Given the description of an element on the screen output the (x, y) to click on. 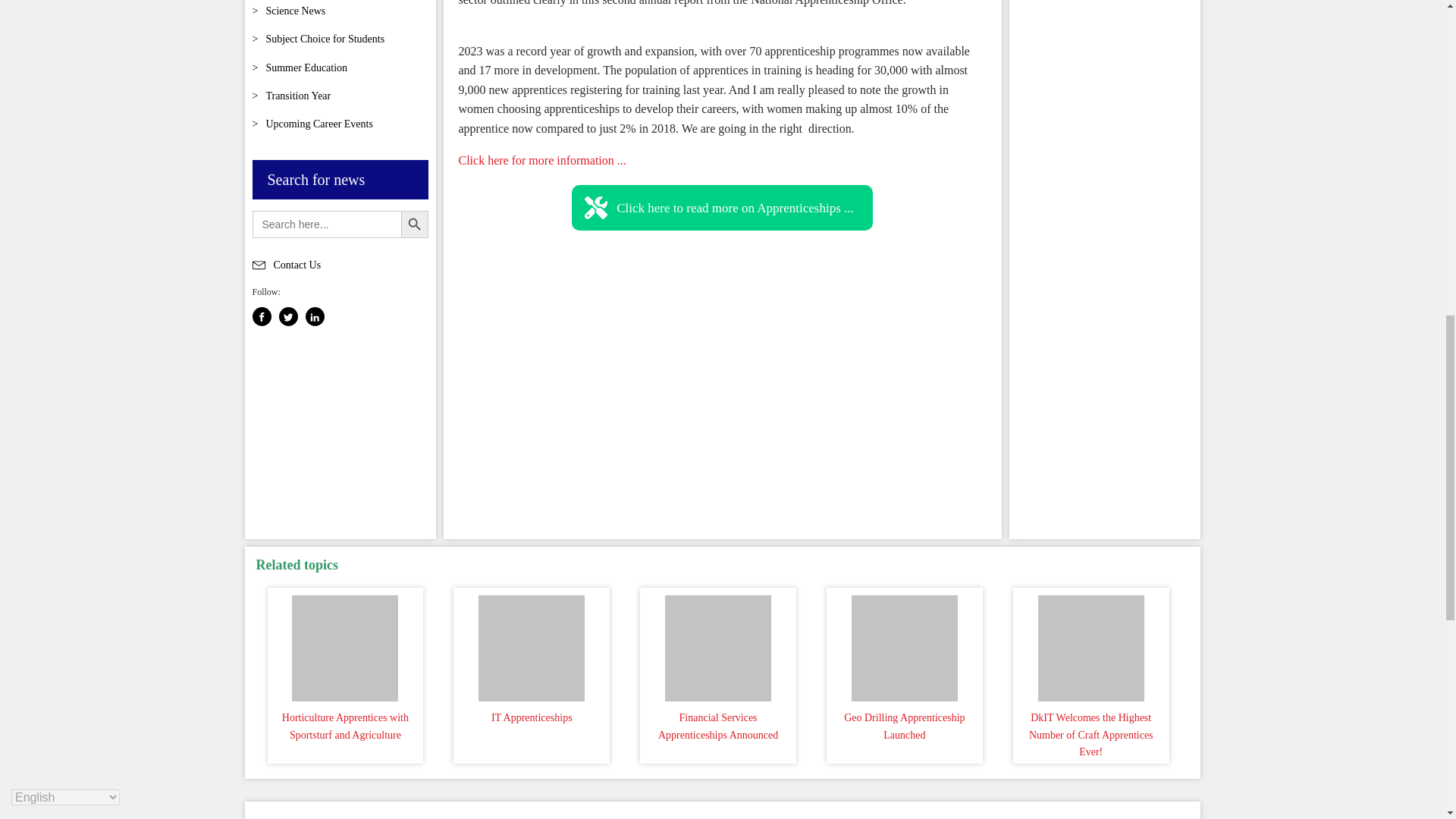
DkIT Welcomes the Highest Number of Craft Apprentices Ever! (1091, 644)
Financial Services Apprenticeships Announced (717, 644)
IT Apprenticeships (531, 644)
Horticulture Apprentices with Sportsturf and Agriculture (345, 644)
Geo Drilling Apprenticeship Launched (903, 644)
